Given the description of an element on the screen output the (x, y) to click on. 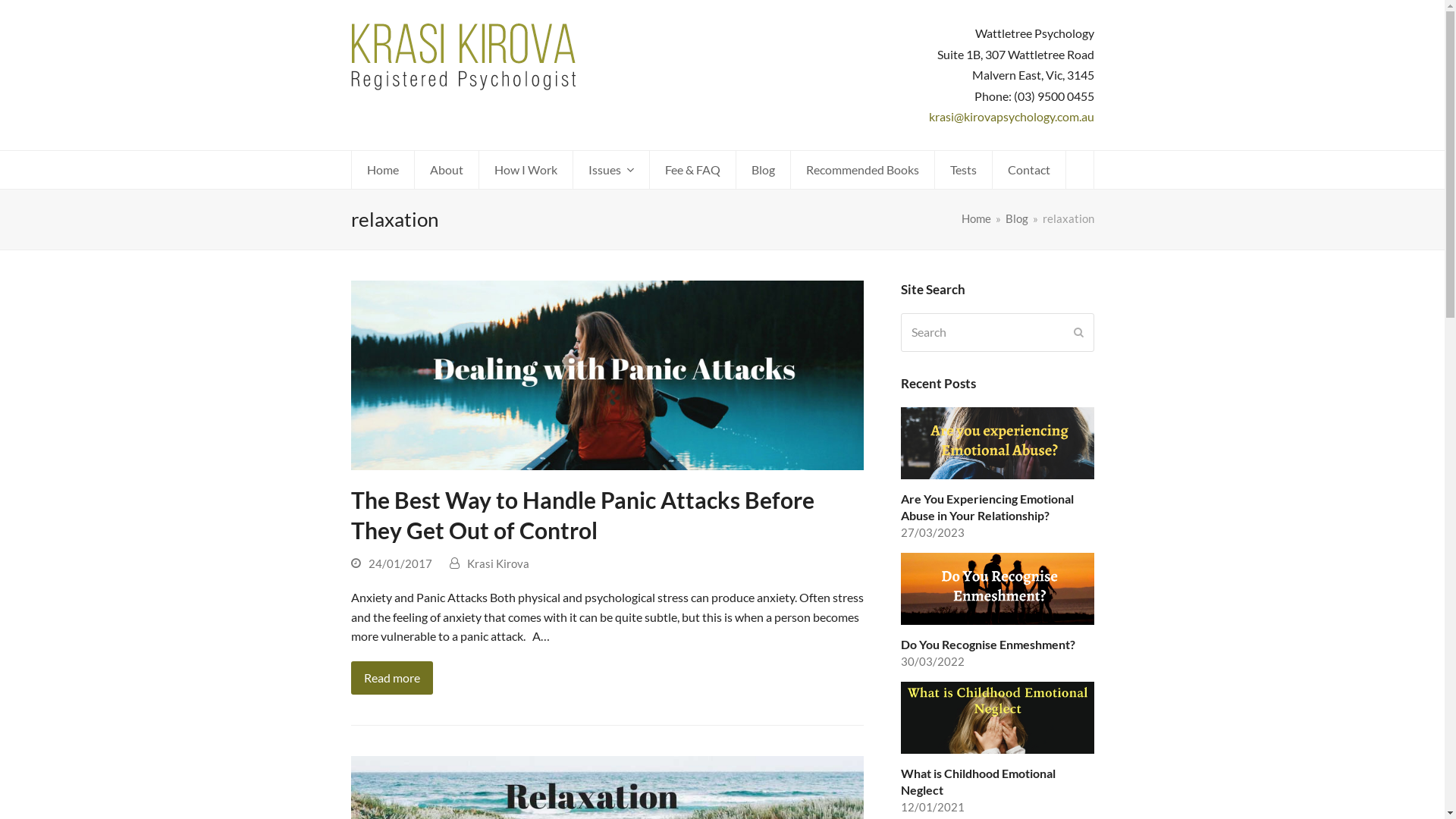
Issues Element type: text (611, 169)
Recommended Books Element type: text (861, 169)
Fee & FAQ Element type: text (691, 169)
Home Element type: text (976, 218)
Contact Element type: text (1027, 169)
Blog Element type: text (1016, 218)
Blog Element type: text (762, 169)
Do You Recognise Enmeshment?
30/03/2022 Element type: text (997, 611)
Read more Element type: text (391, 677)
Tests Element type: text (962, 169)
Krasi Kirova Element type: text (498, 563)
How I Work Element type: text (525, 169)
About Element type: text (445, 169)
Home Element type: text (382, 169)
Submit Element type: text (1078, 331)
krasi@kirovapsychology.com.au Element type: text (1010, 116)
What is Childhood Emotional Neglect
12/01/2021 Element type: text (997, 748)
